Given the description of an element on the screen output the (x, y) to click on. 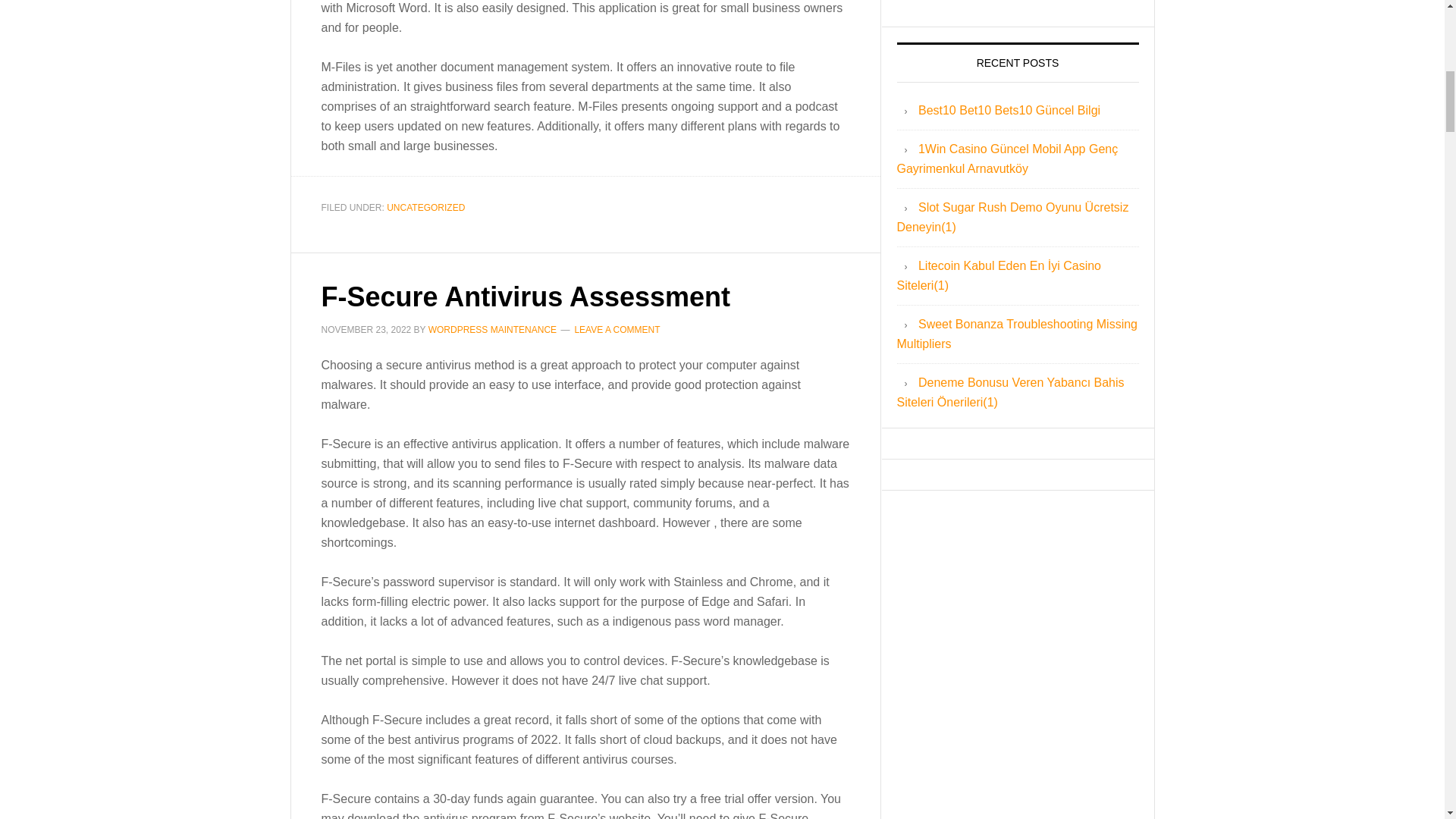
UNCATEGORIZED (425, 207)
WORDPRESS MAINTENANCE (492, 329)
F-Secure Antivirus Assessment (525, 296)
LEAVE A COMMENT (616, 329)
